Given the description of an element on the screen output the (x, y) to click on. 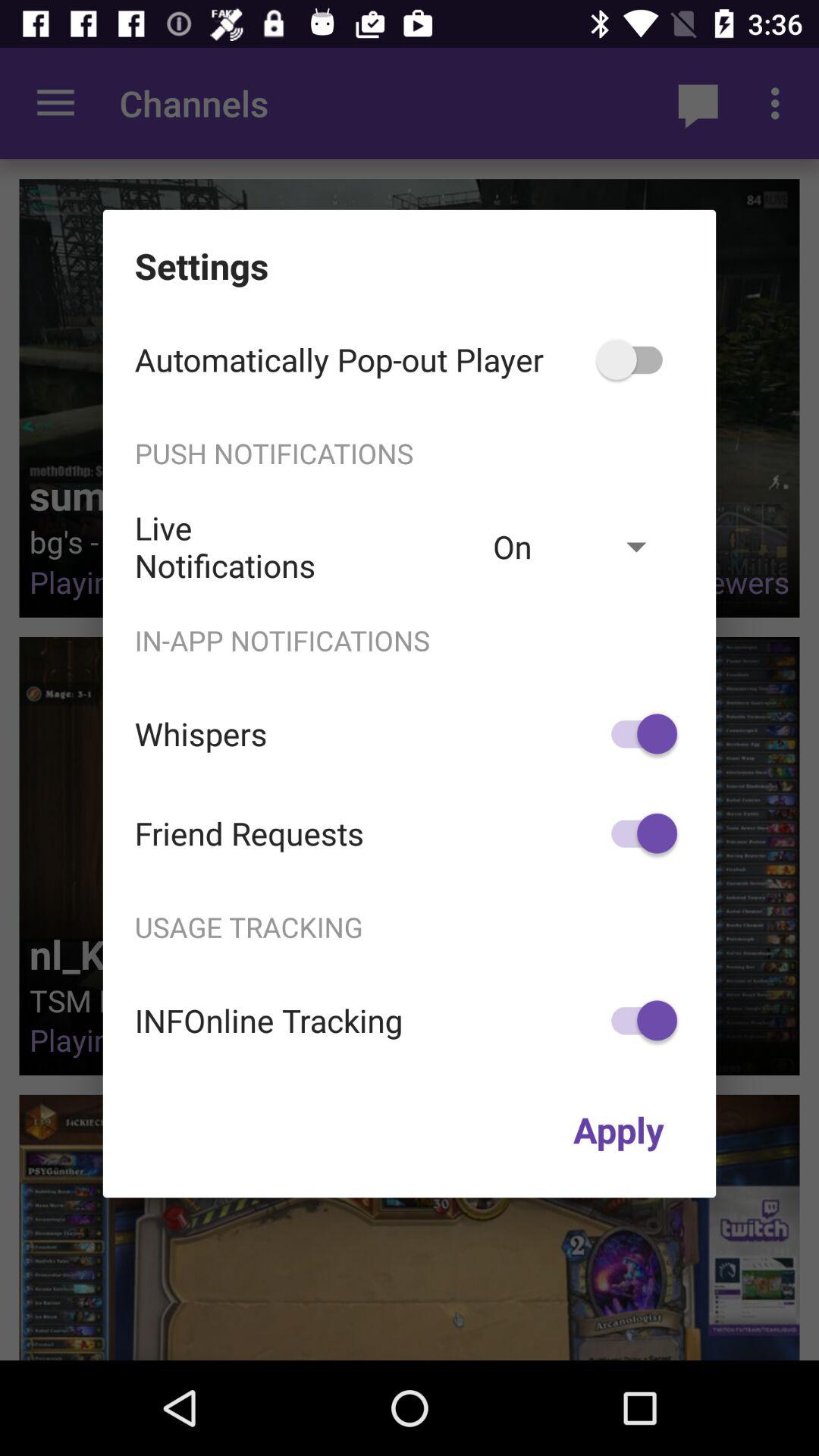
launch icon to the right of the whispers (636, 733)
